Given the description of an element on the screen output the (x, y) to click on. 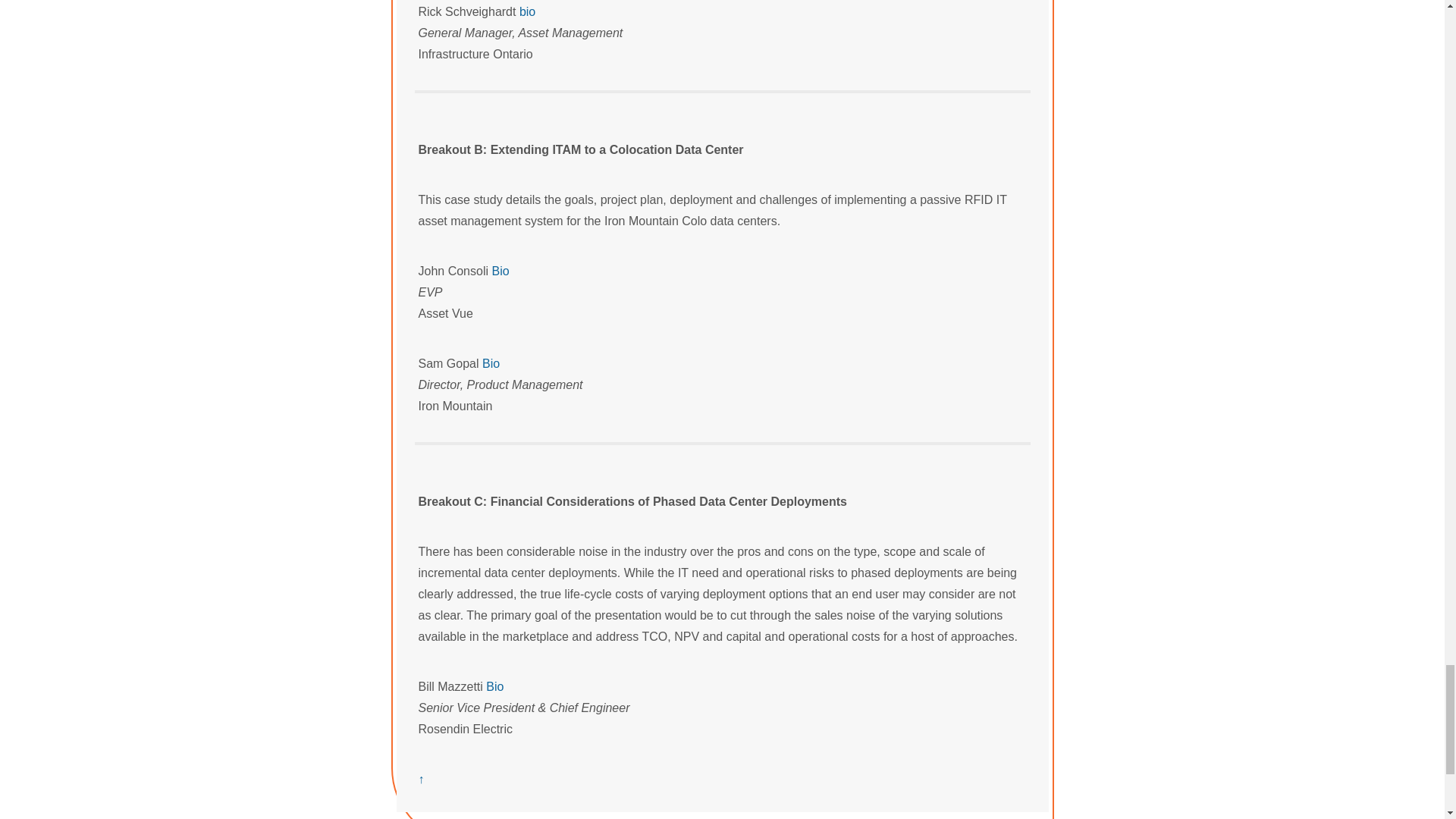
bio (527, 11)
Bio (490, 363)
Bio (500, 270)
